Given the description of an element on the screen output the (x, y) to click on. 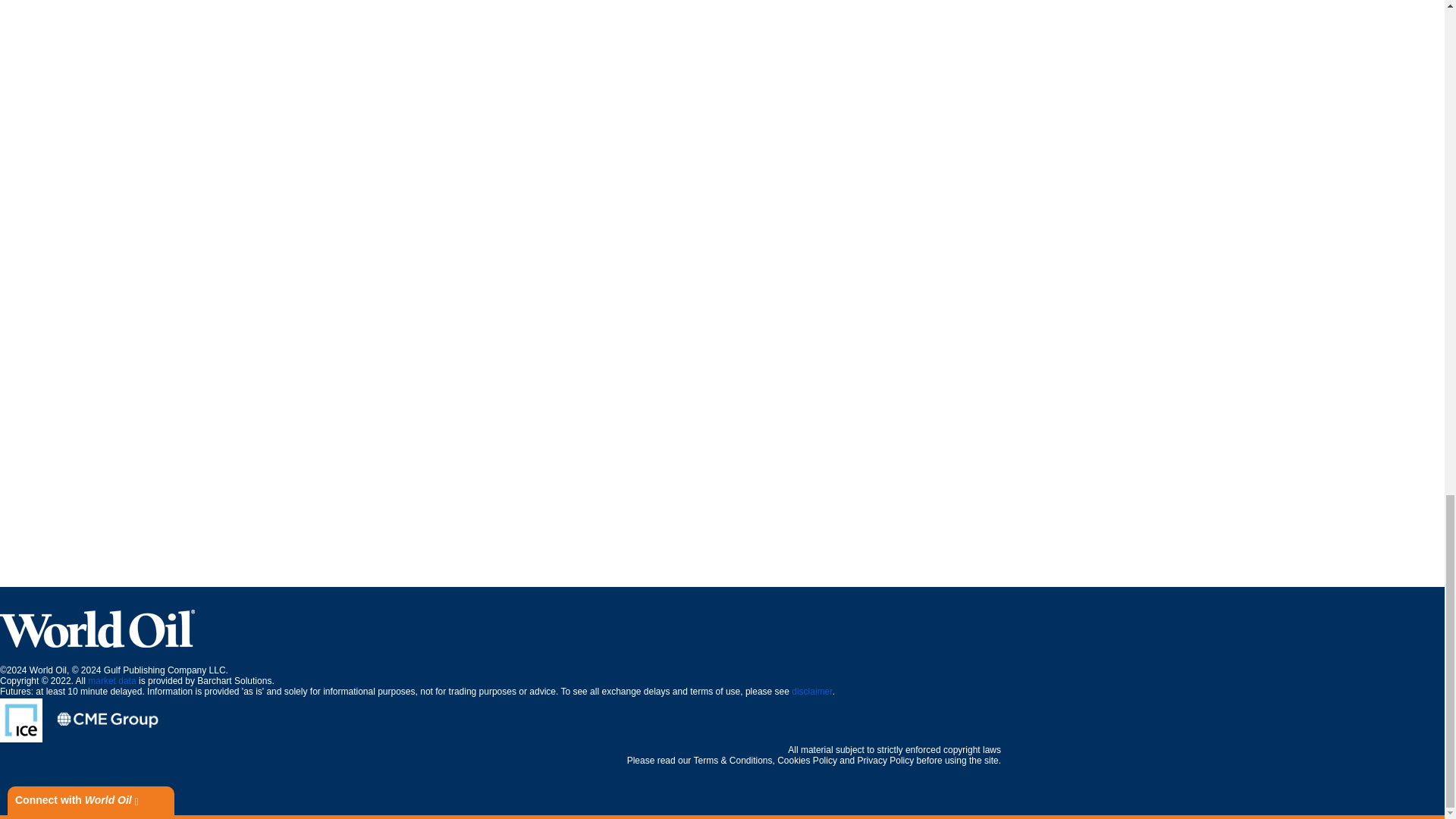
3rd party ad content (721, 552)
